Given the description of an element on the screen output the (x, y) to click on. 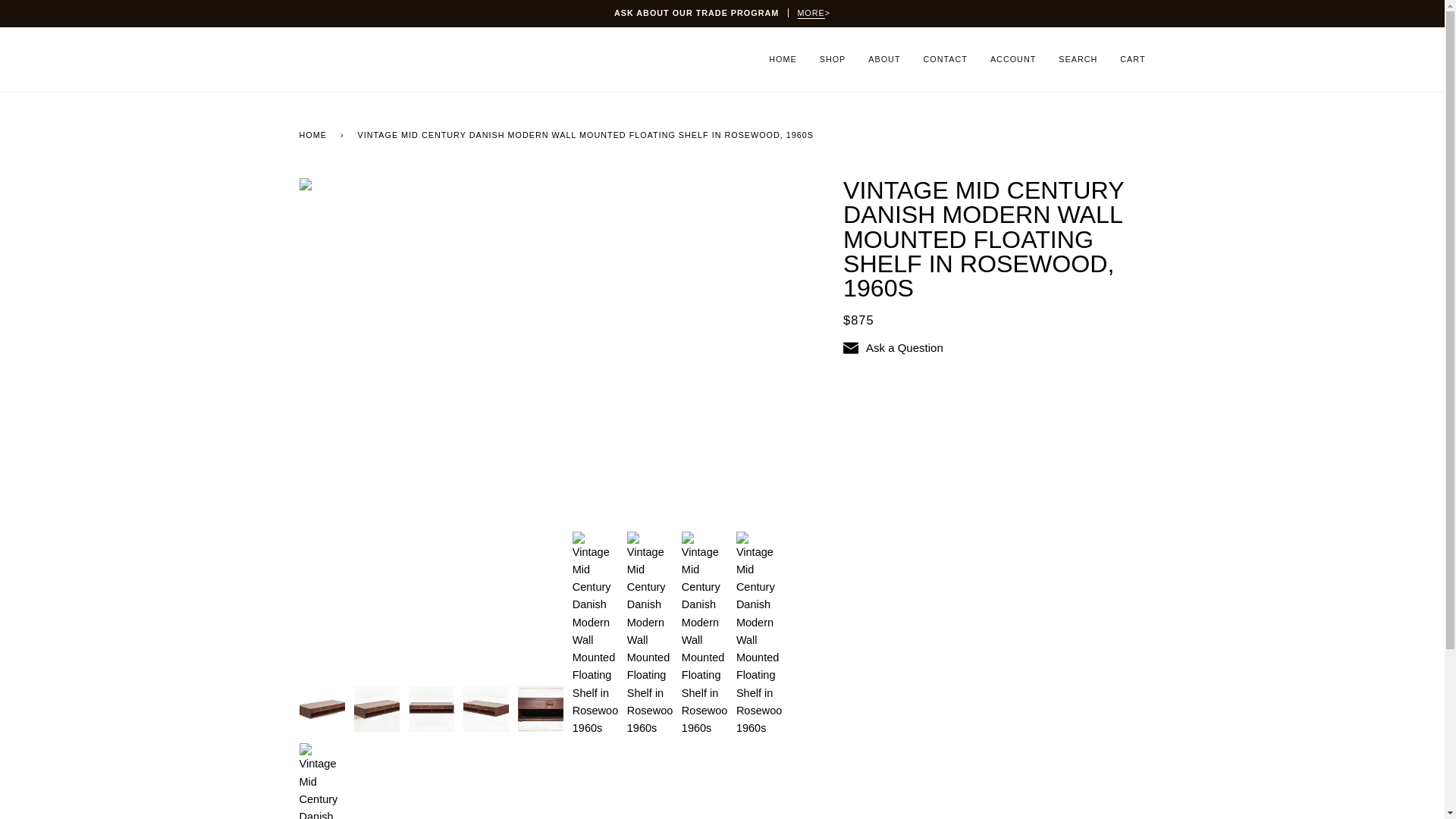
TRADE PROGRAM (810, 12)
CONTACT (945, 59)
Back to the frontpage (314, 134)
MORE (810, 12)
SEARCH (1077, 59)
ACCOUNT (1012, 59)
